Given the description of an element on the screen output the (x, y) to click on. 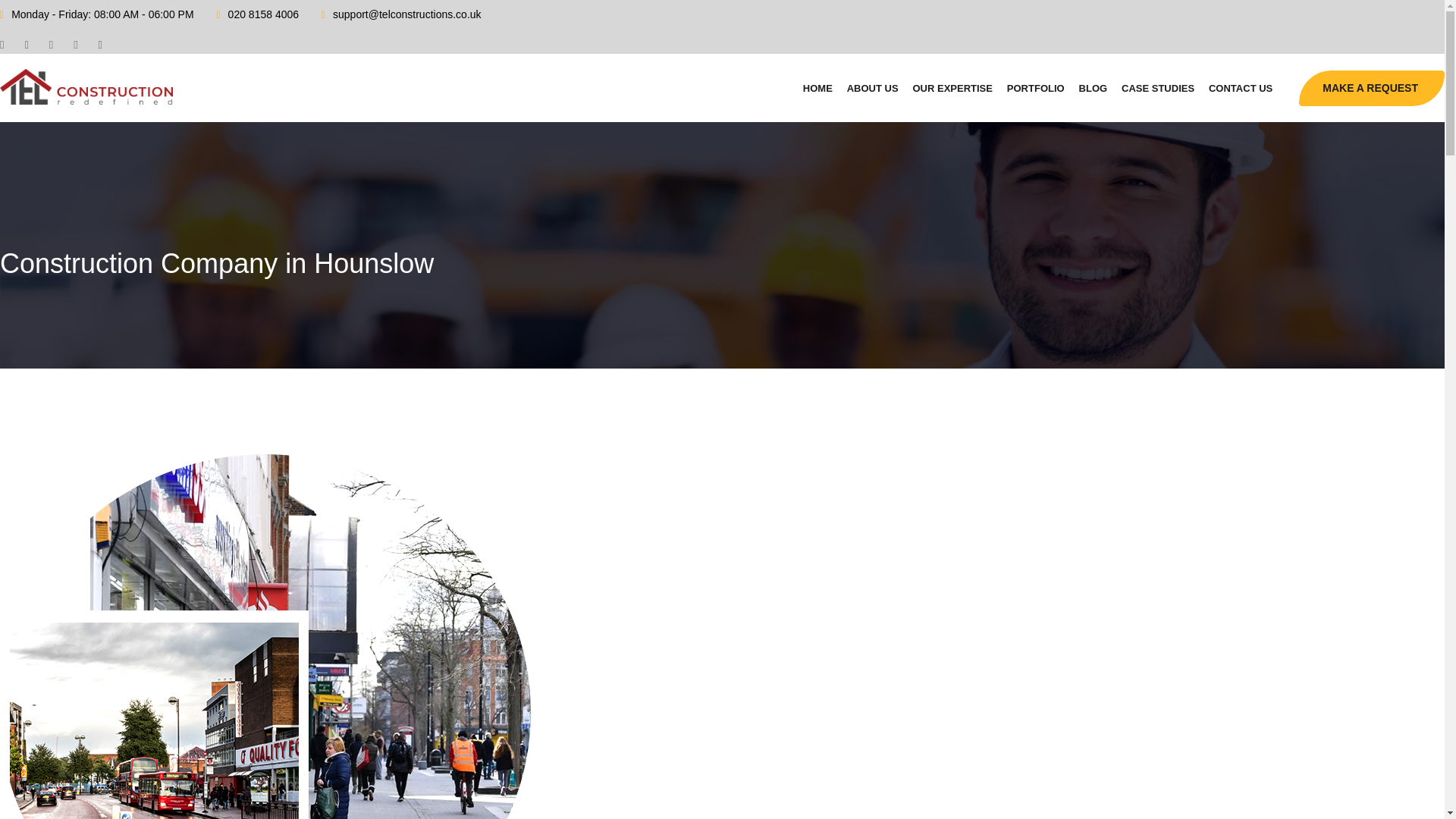
MAKE A REQUEST (1371, 87)
CASE STUDIES (1157, 88)
CONTACT US (1240, 88)
020 8158 4006 (263, 14)
Monday - Friday: 08:00 AM - 06:00 PM (102, 14)
OUR EXPERTISE (951, 88)
